Given the description of an element on the screen output the (x, y) to click on. 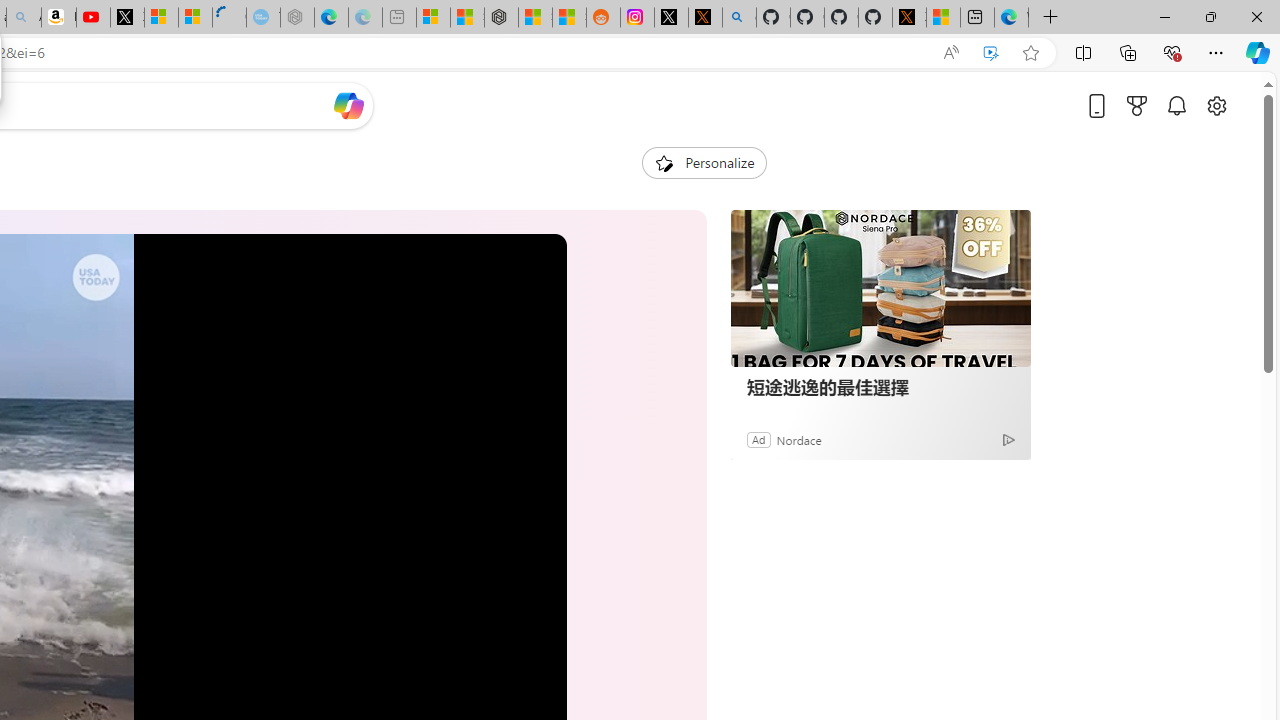
The most popular Google 'how to' searches - Sleeping (263, 17)
